Given the description of an element on the screen output the (x, y) to click on. 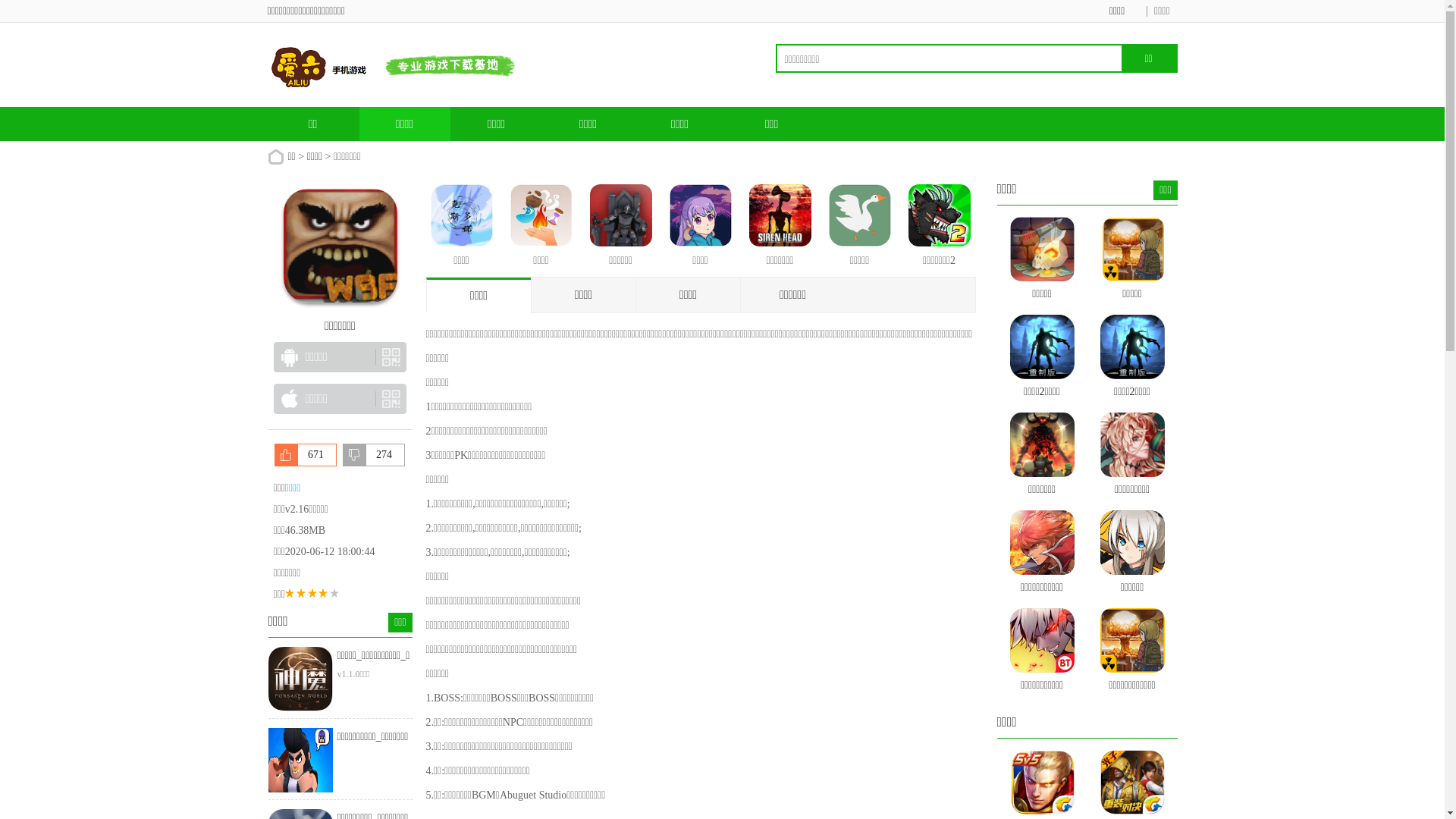
671 Element type: text (305, 454)
274 Element type: text (373, 454)
